Given the description of an element on the screen output the (x, y) to click on. 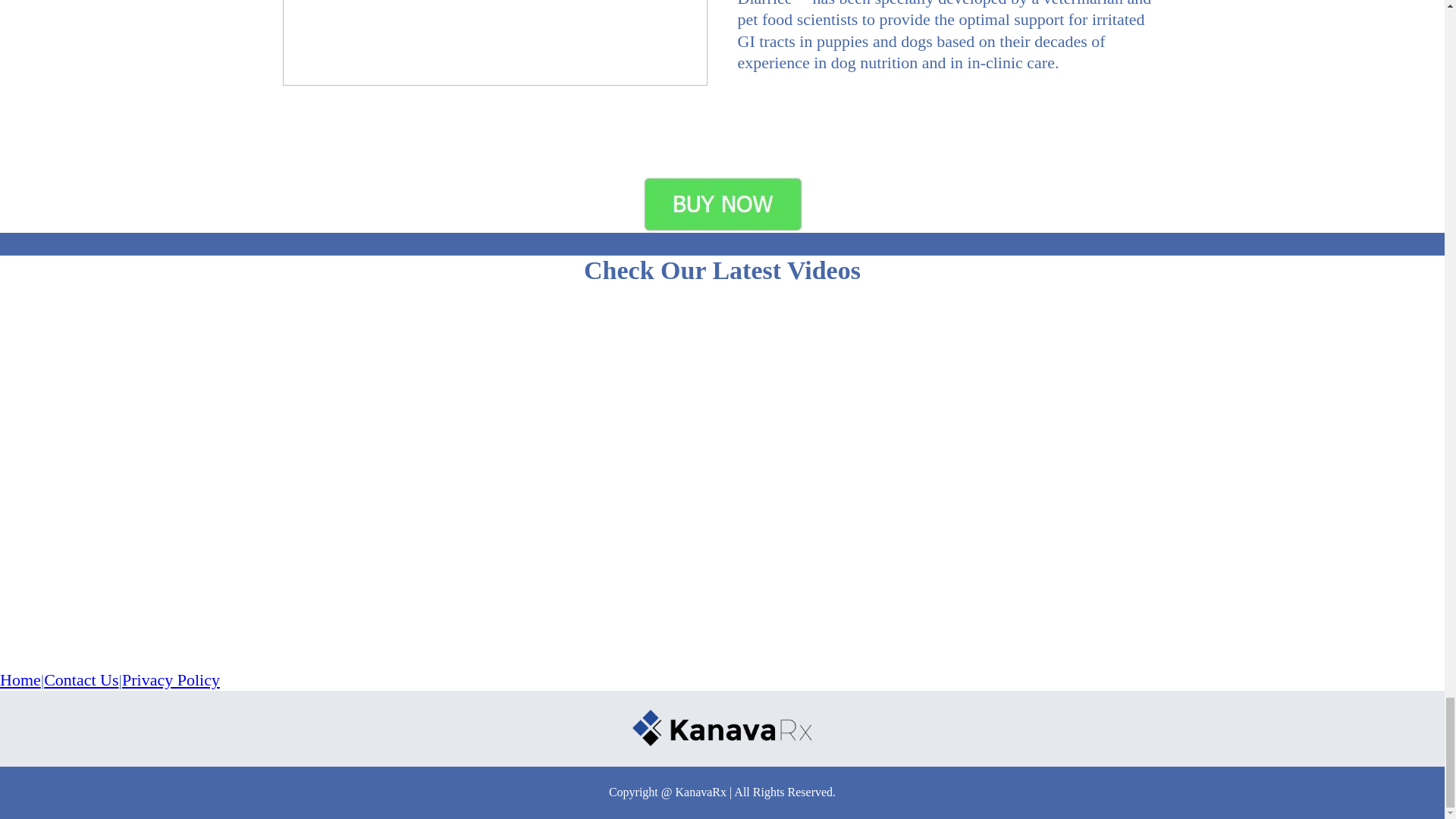
Contact Us (80, 679)
Privacy Policy (170, 679)
Home (20, 679)
